Given the description of an element on the screen output the (x, y) to click on. 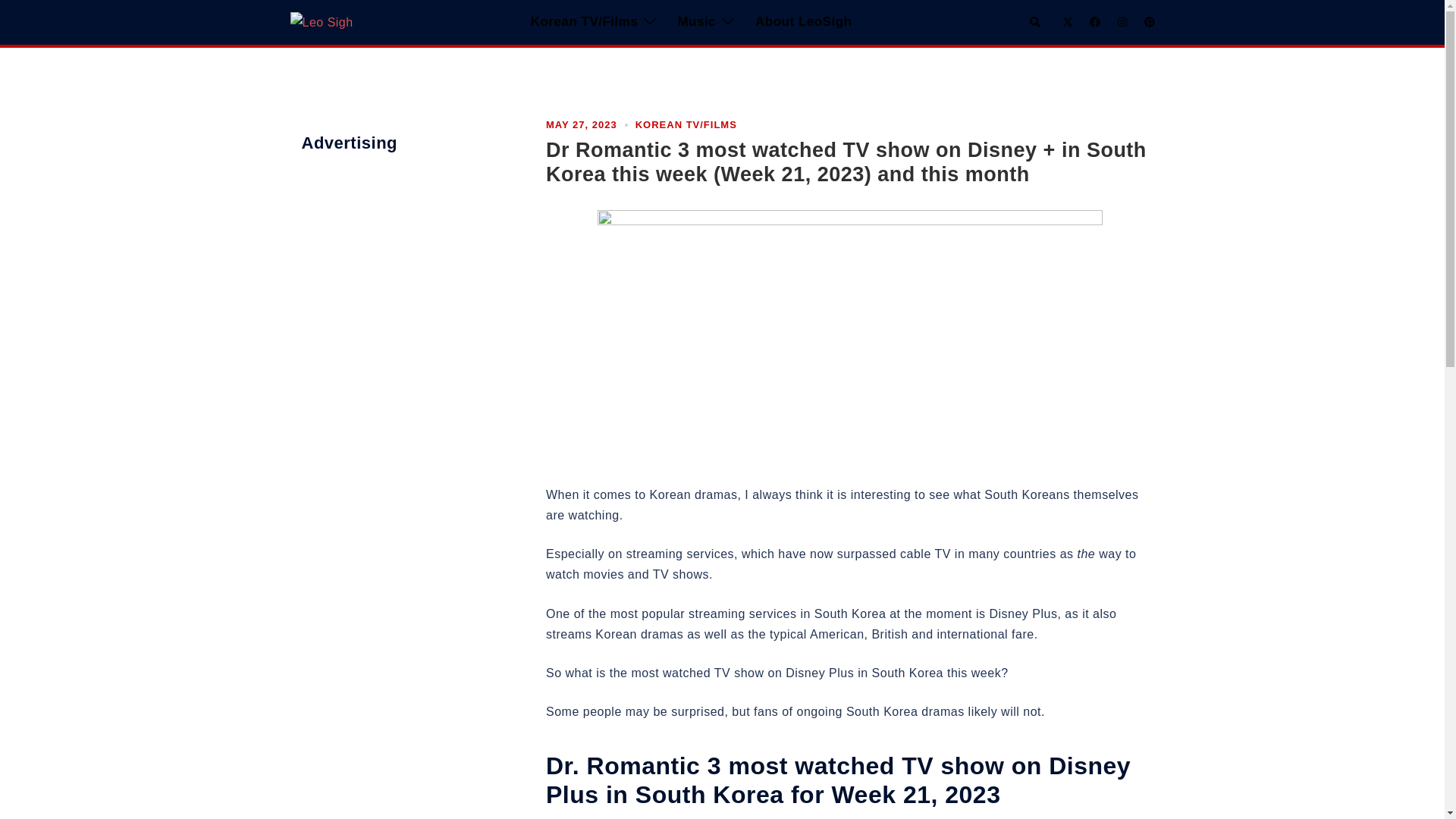
MAY 27, 2023 (581, 124)
Music (696, 22)
Search (1035, 21)
About LeoSigh (803, 22)
Leo Sigh (320, 21)
